Given the description of an element on the screen output the (x, y) to click on. 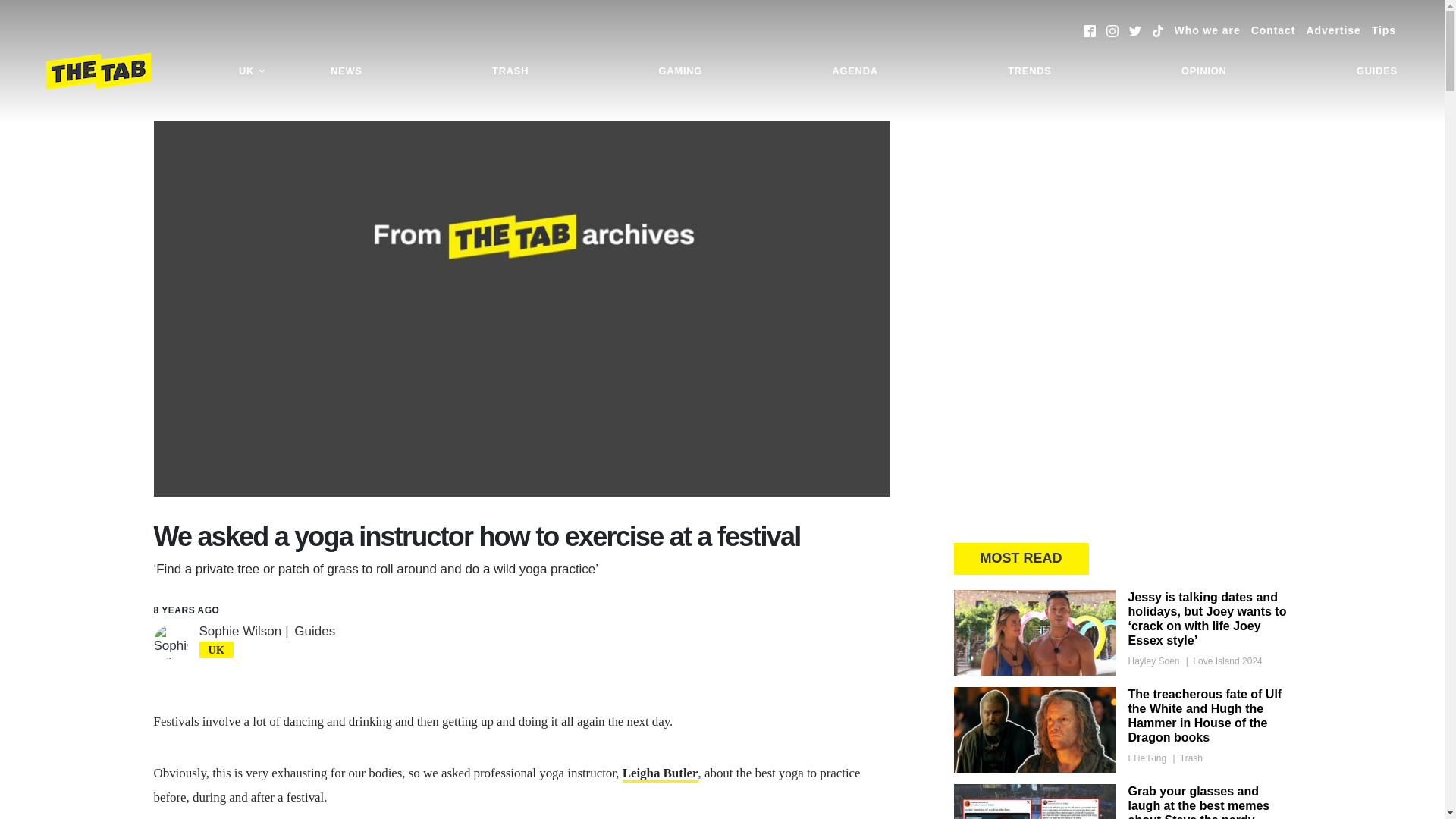
OPINION (1204, 71)
TRASH (510, 71)
Who we are (1207, 29)
GUIDES (1377, 71)
Advertise (1332, 29)
TRENDS (1028, 71)
Tips (1383, 29)
GAMING (680, 71)
AGENDA (854, 71)
UK (252, 71)
NEWS (346, 71)
Contact (1272, 29)
